Given the description of an element on the screen output the (x, y) to click on. 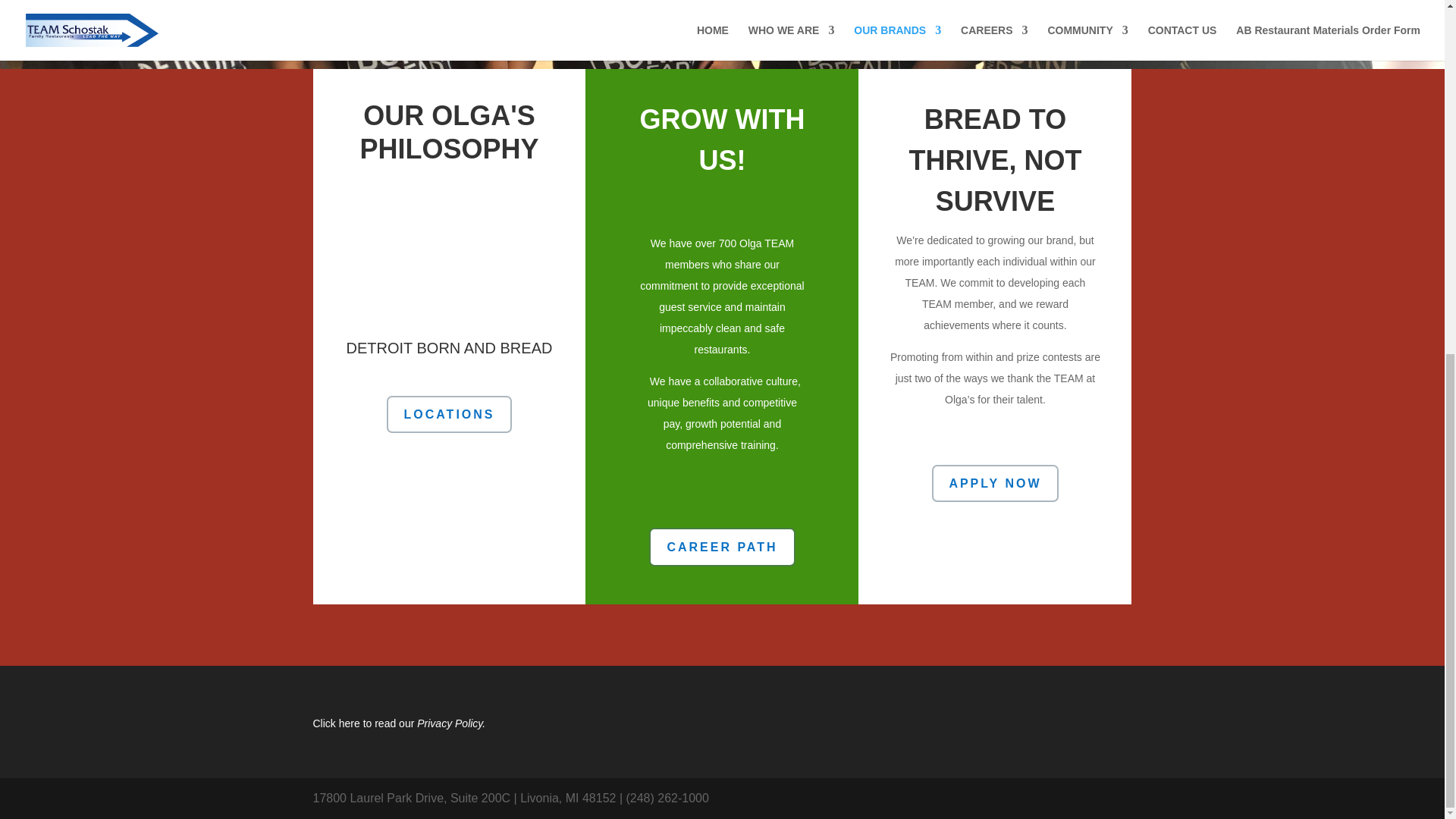
Olgas Brand 11 30 22 (448, 252)
